Given the description of an element on the screen output the (x, y) to click on. 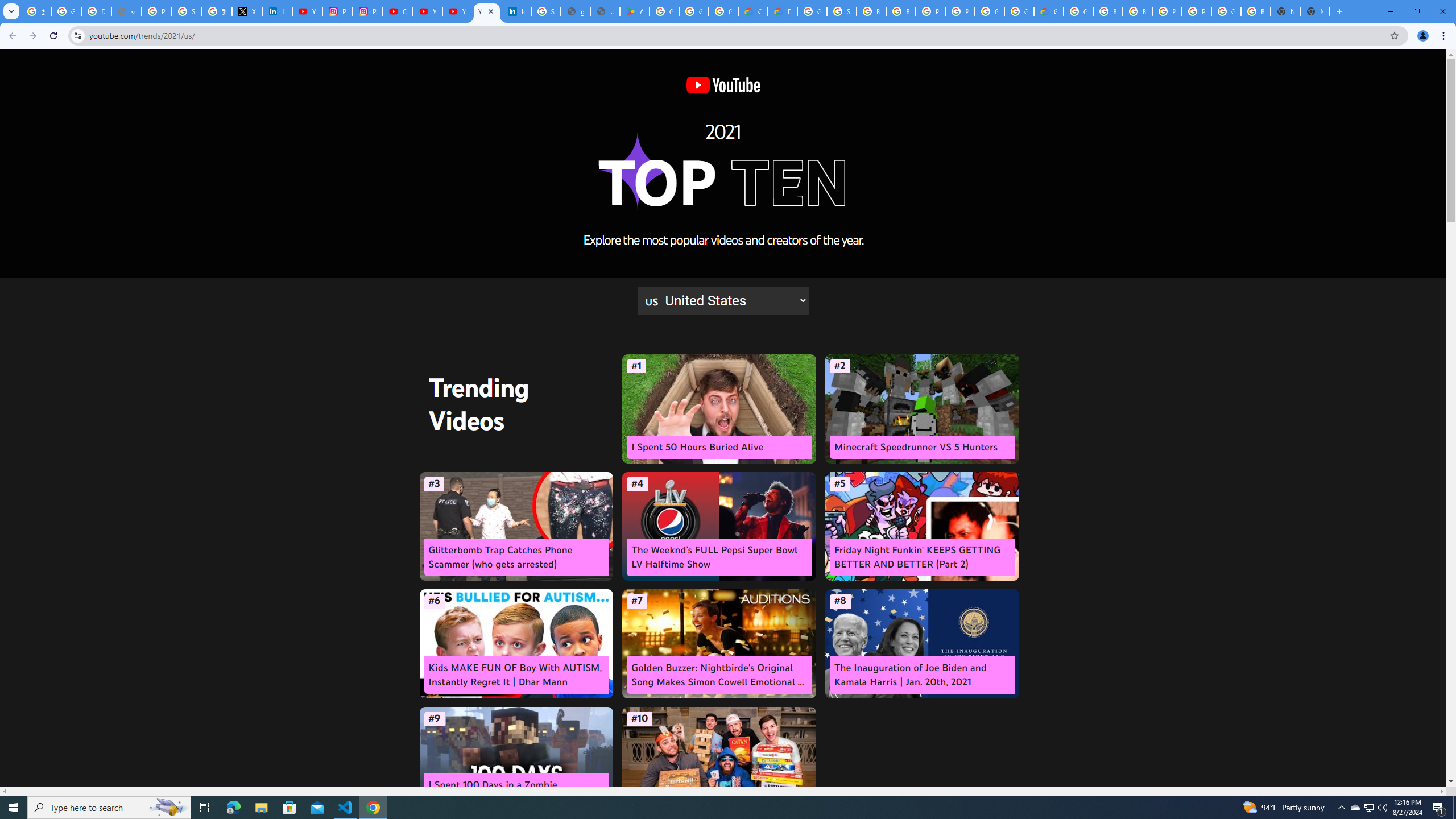
Google Cloud Platform (1226, 11)
Customer Care | Google Cloud (753, 11)
Google Cloud Platform (989, 11)
#1 I Spent 50 Hours Buried Alive (718, 408)
Google Cloud Platform (811, 11)
New Tab (1314, 11)
